Given the description of an element on the screen output the (x, y) to click on. 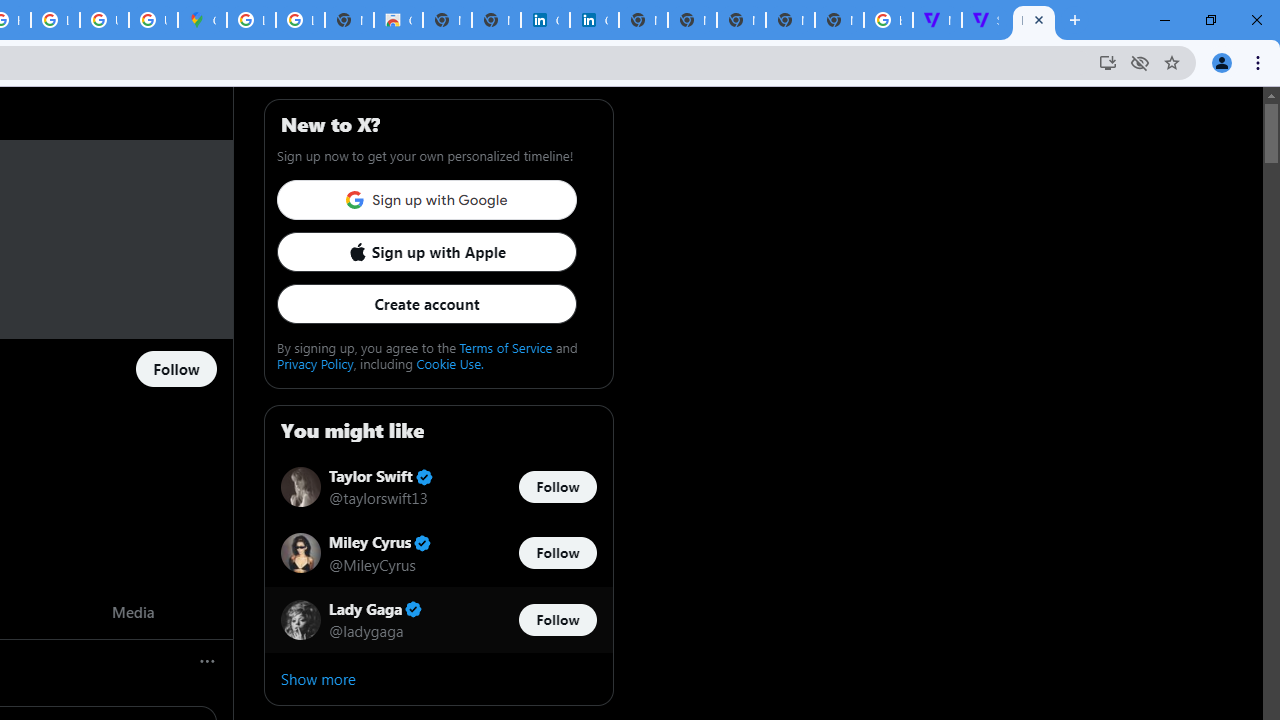
Streaming - The Verge (985, 20)
Privacy Policy (315, 363)
